Given the description of an element on the screen output the (x, y) to click on. 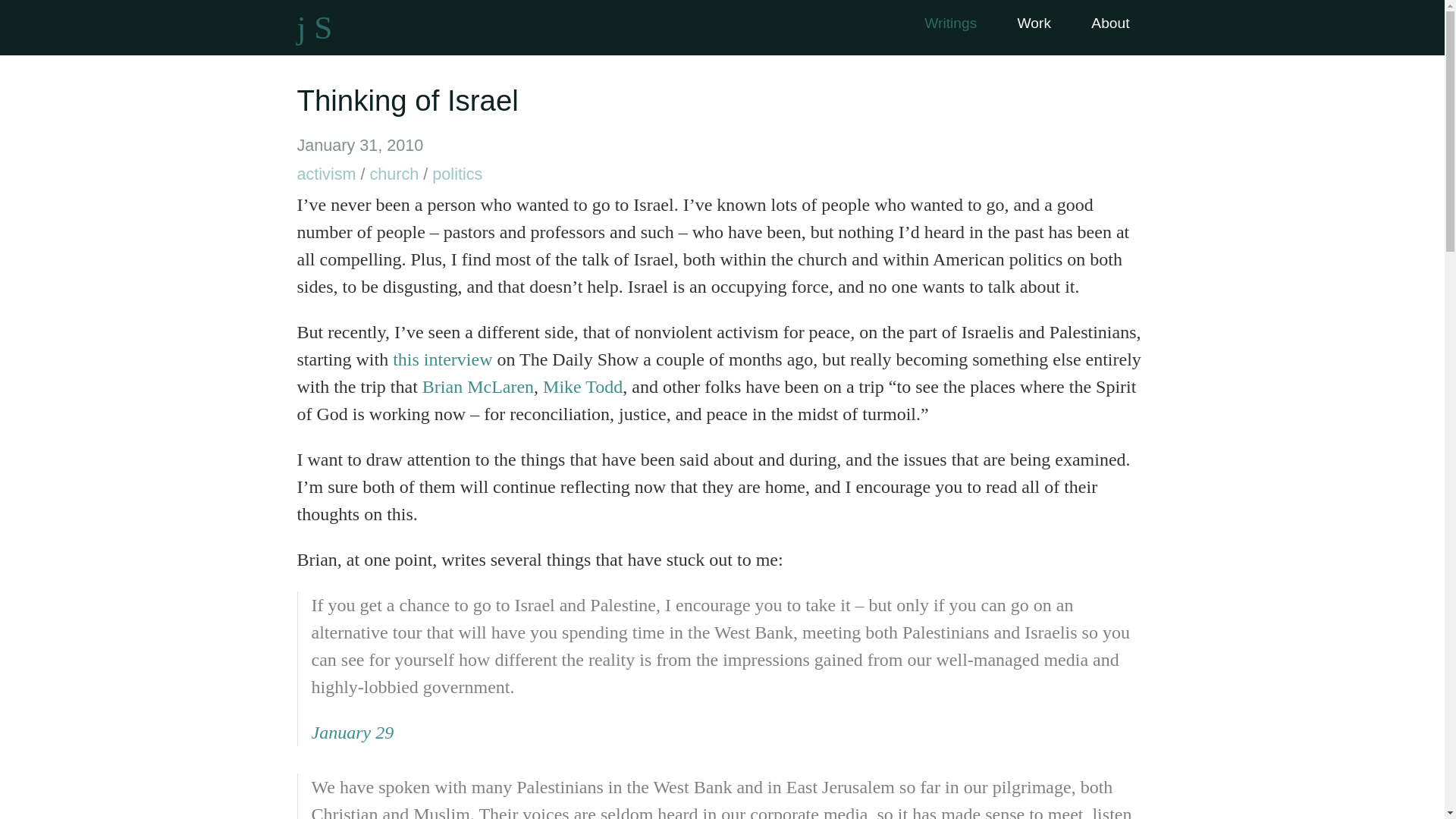
Work (1033, 23)
this interview (442, 359)
Mike Todd (583, 386)
politics (456, 173)
Brian McLaren (478, 386)
j S (315, 27)
January 29 (352, 732)
activism (326, 173)
church (394, 173)
About (1110, 23)
Writings (949, 23)
